Given the description of an element on the screen output the (x, y) to click on. 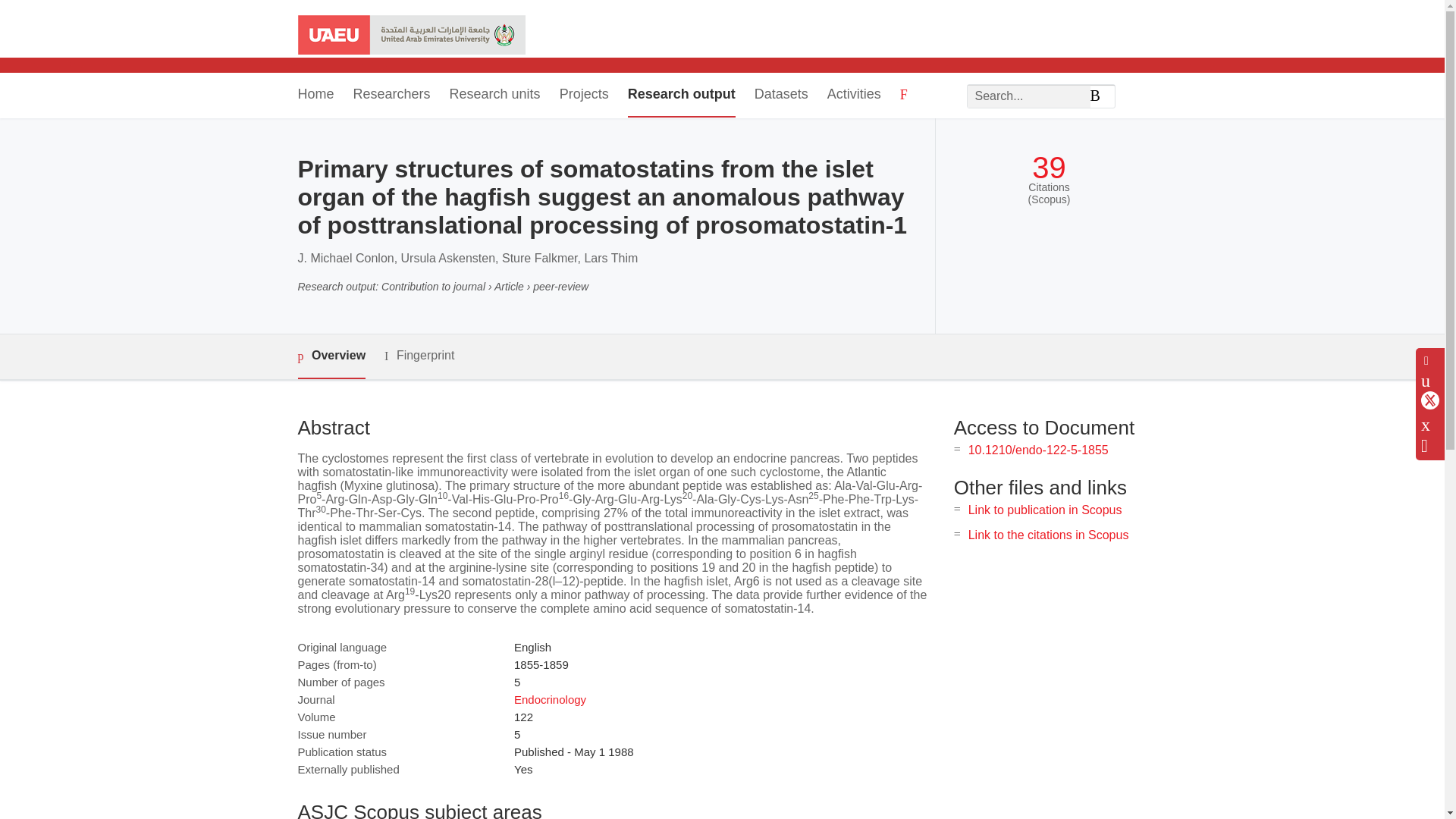
Overview (331, 356)
Research units (494, 94)
39 (1048, 167)
Datasets (781, 94)
Fingerprint (419, 355)
Activities (853, 94)
Link to the citations in Scopus (1048, 534)
Research output (681, 94)
Researchers (391, 94)
Projects (583, 94)
